Given the description of an element on the screen output the (x, y) to click on. 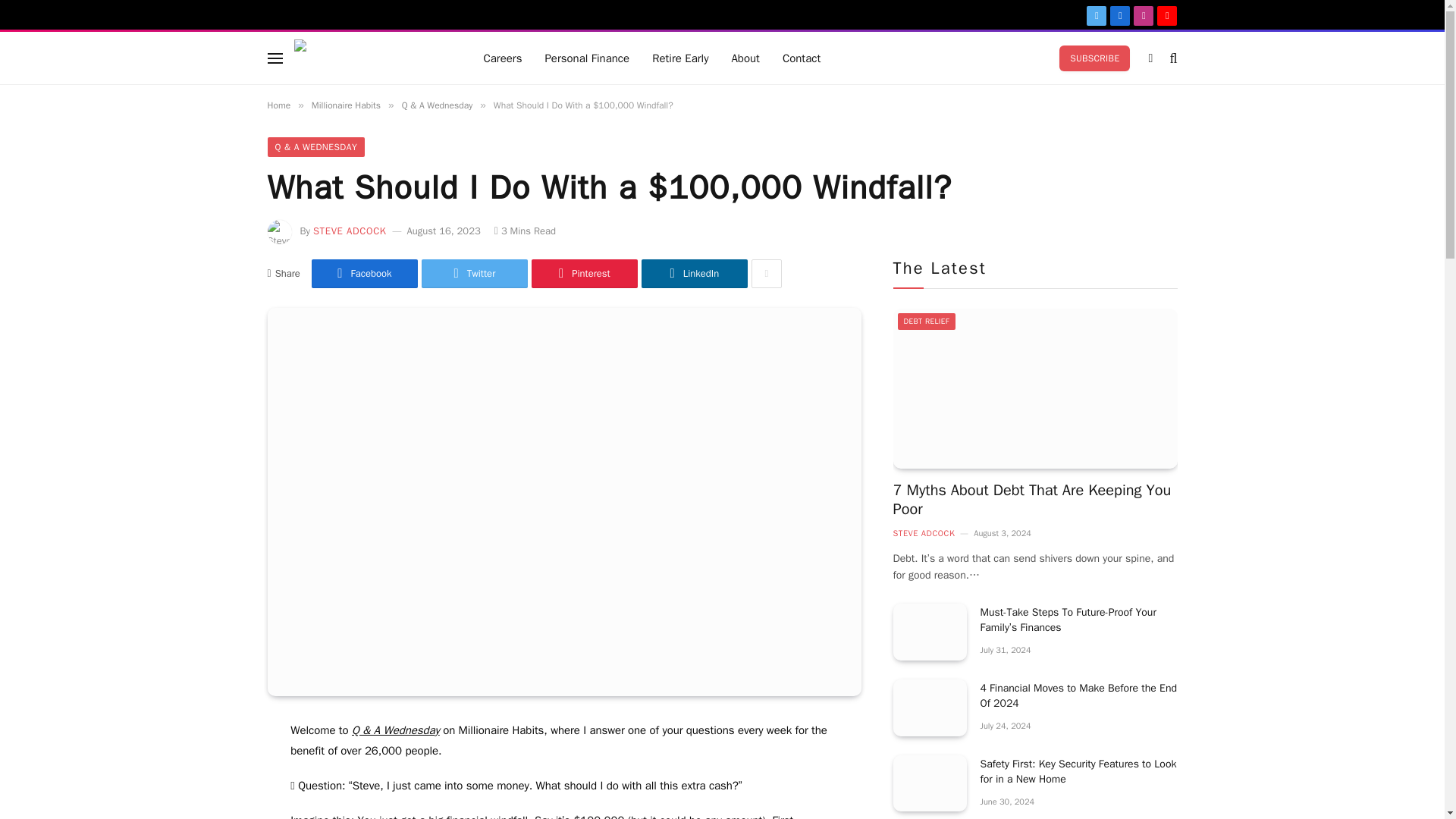
Twitter (474, 273)
Instagram (1143, 15)
About (744, 57)
Contact (801, 57)
Pinterest (584, 273)
LinkedIn (695, 273)
YouTube (1166, 15)
Share on LinkedIn (695, 273)
Posts by Steve Adcock (350, 230)
SUBSCRIBE (1094, 58)
